Given the description of an element on the screen output the (x, y) to click on. 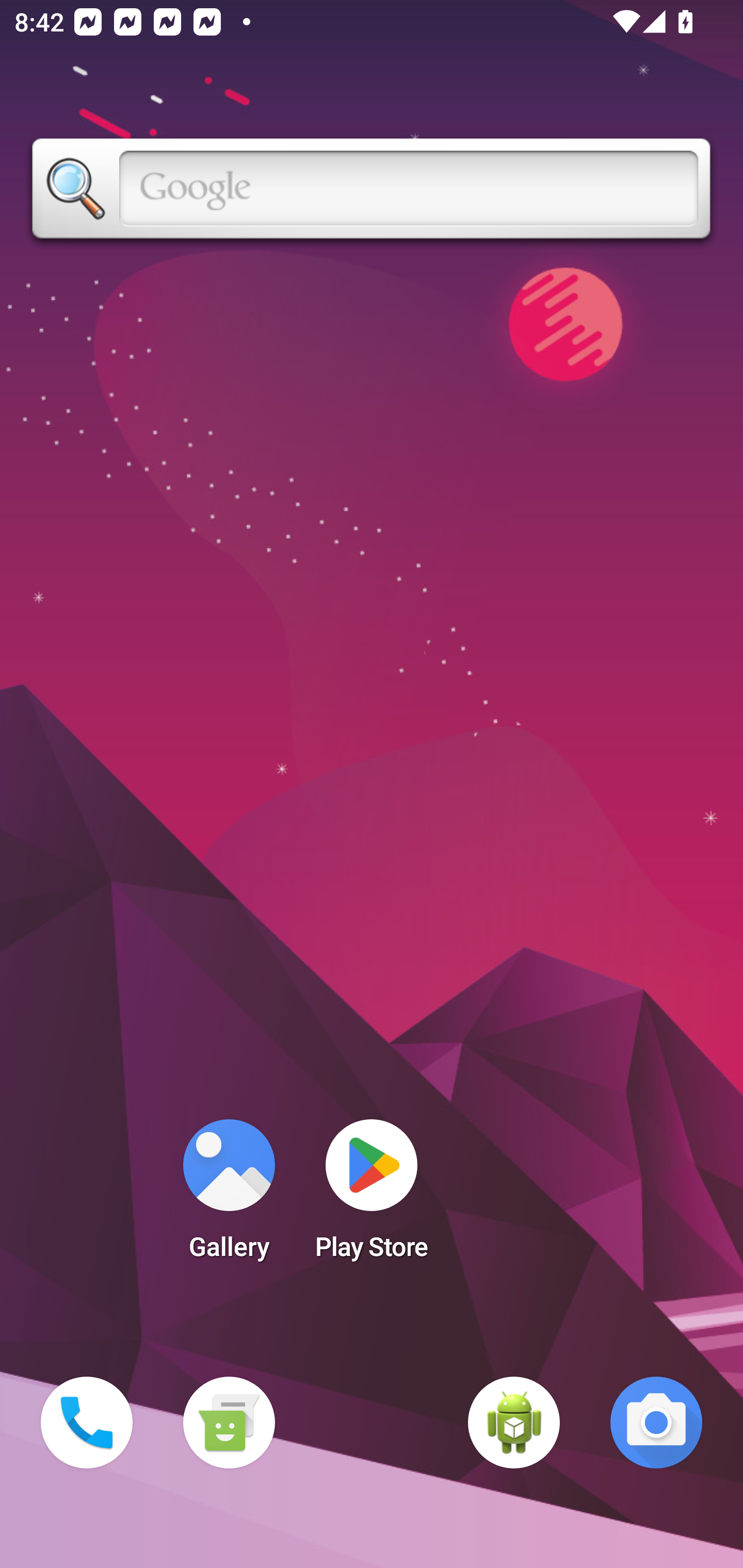
Gallery (228, 1195)
Play Store (371, 1195)
Phone (86, 1422)
Messaging (228, 1422)
WebView Browser Tester (513, 1422)
Camera (656, 1422)
